Given the description of an element on the screen output the (x, y) to click on. 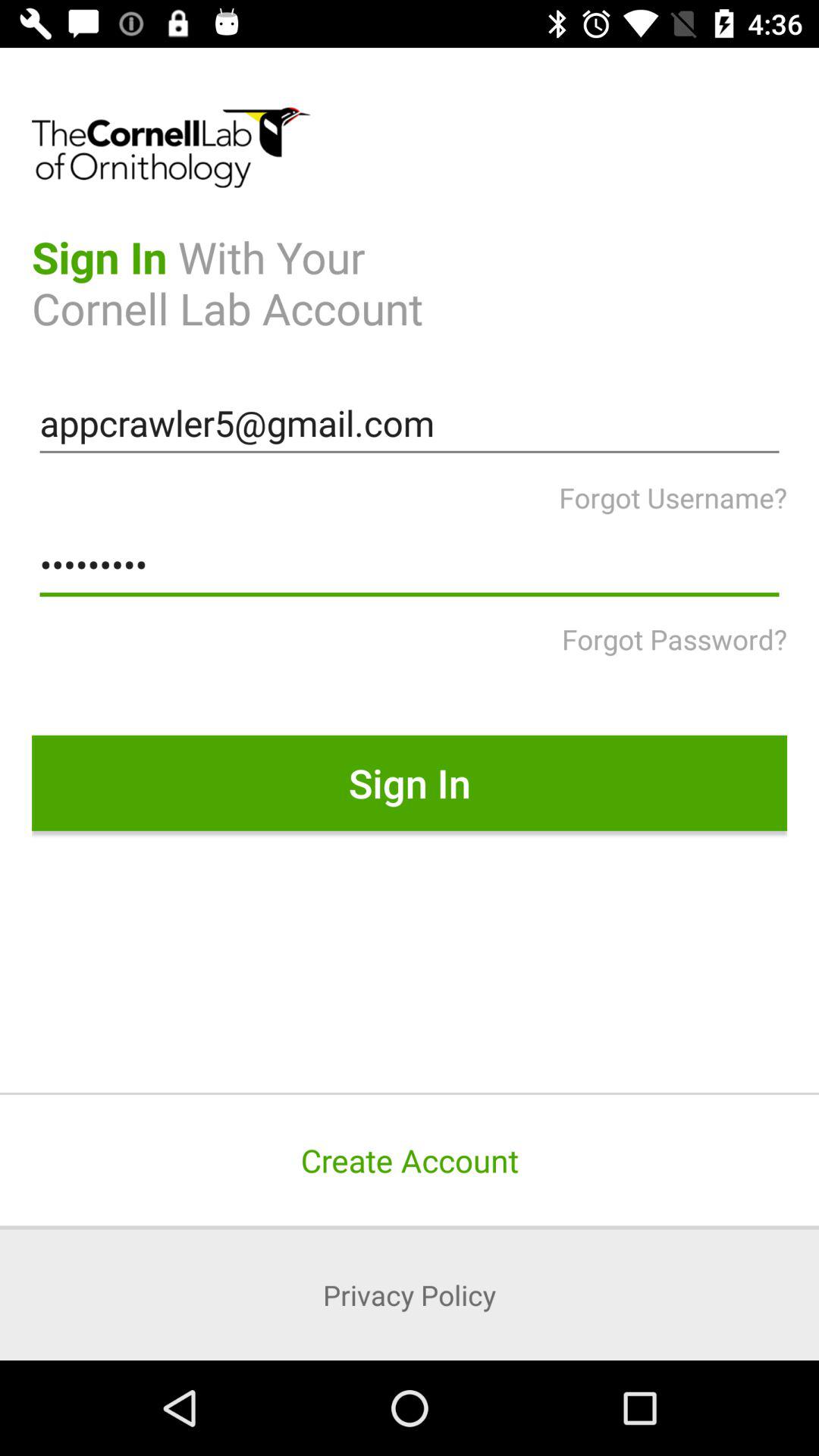
jump until the appcrawler5@gmail.com item (409, 423)
